Given the description of an element on the screen output the (x, y) to click on. 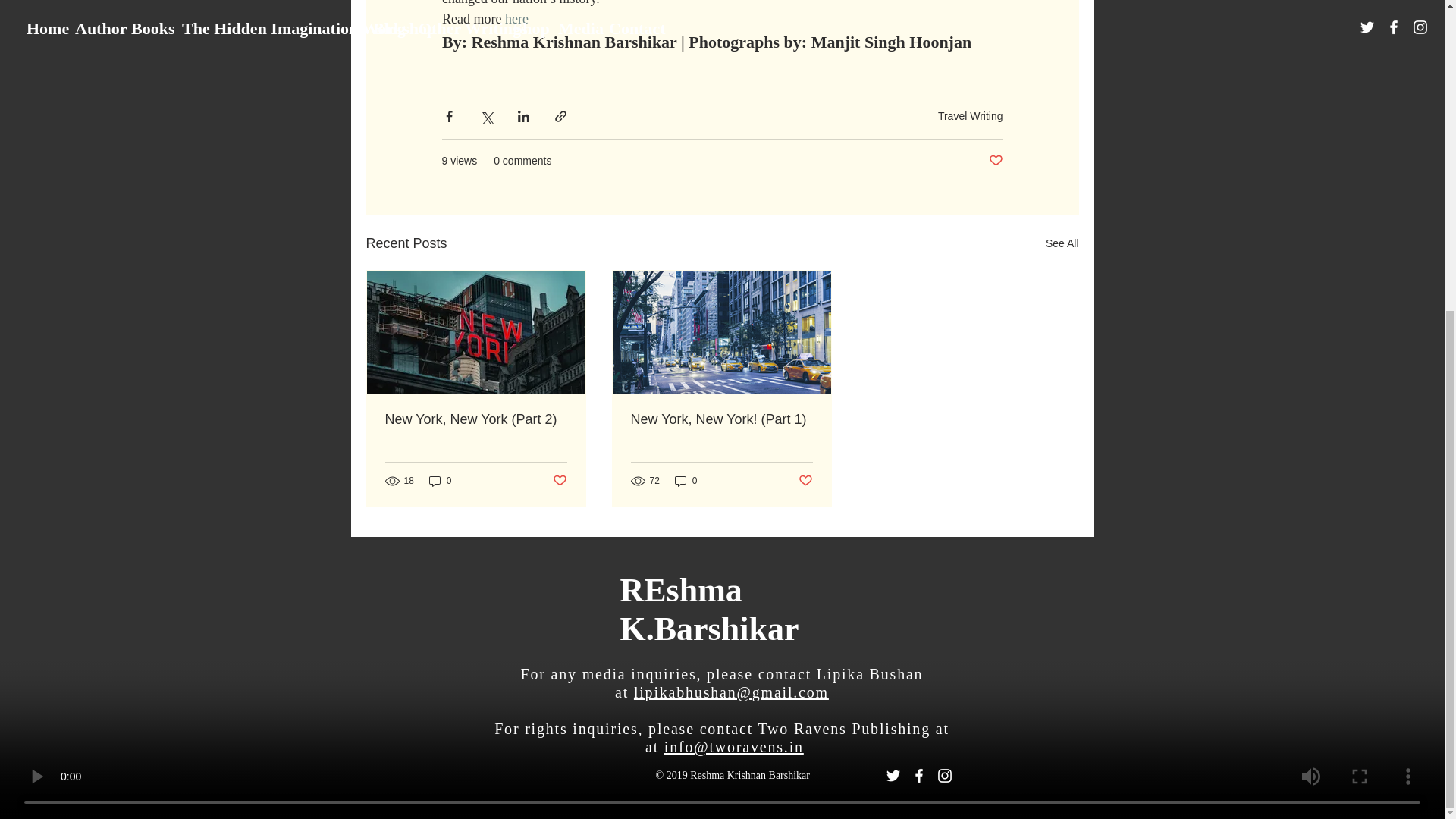
0 (440, 480)
here (515, 18)
See All (1061, 243)
Post not marked as liked (995, 160)
Travel Writing (970, 114)
Post not marked as liked (558, 480)
